Given the description of an element on the screen output the (x, y) to click on. 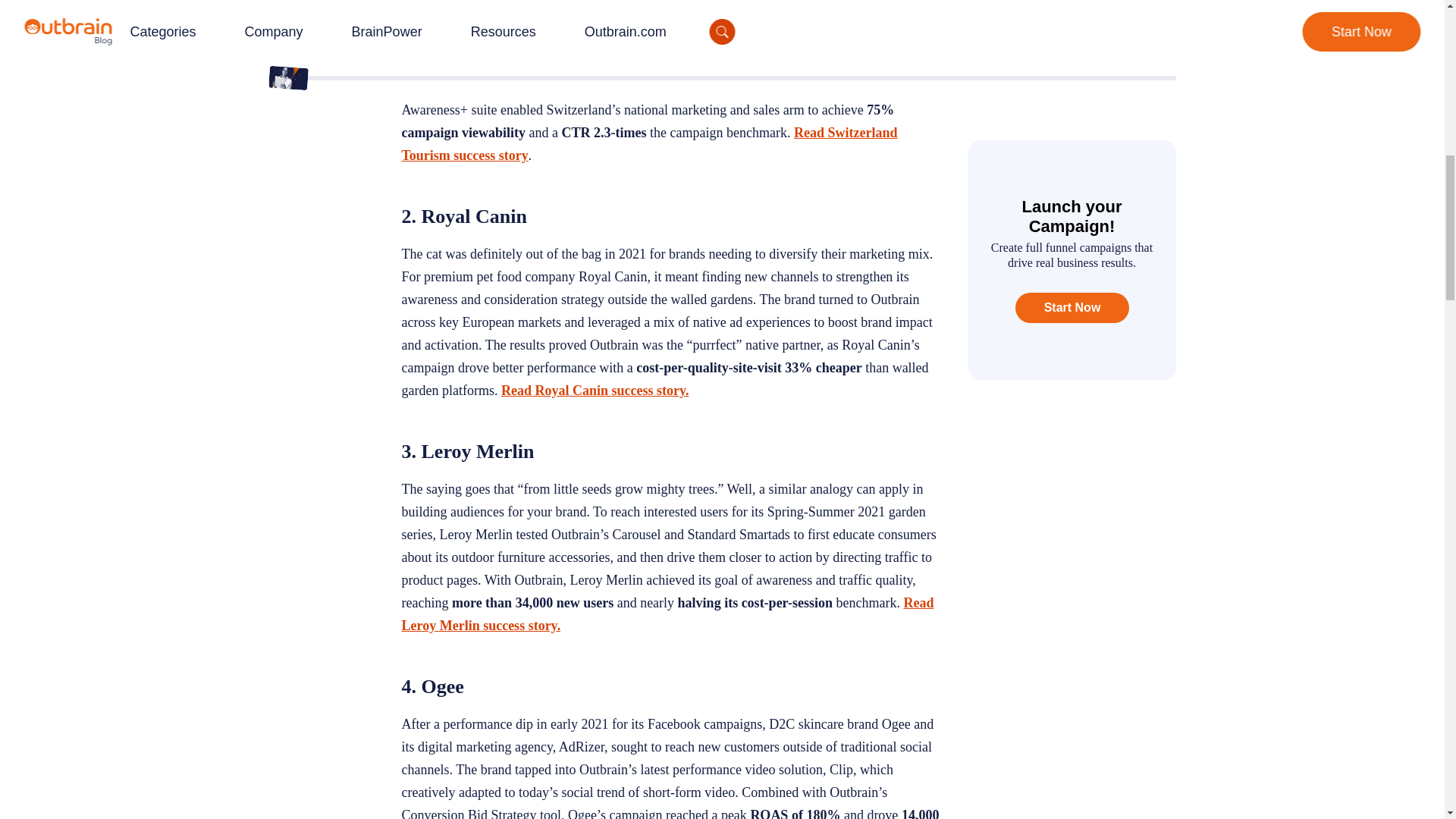
Read Switzerland Tourism success story (649, 143)
